Given the description of an element on the screen output the (x, y) to click on. 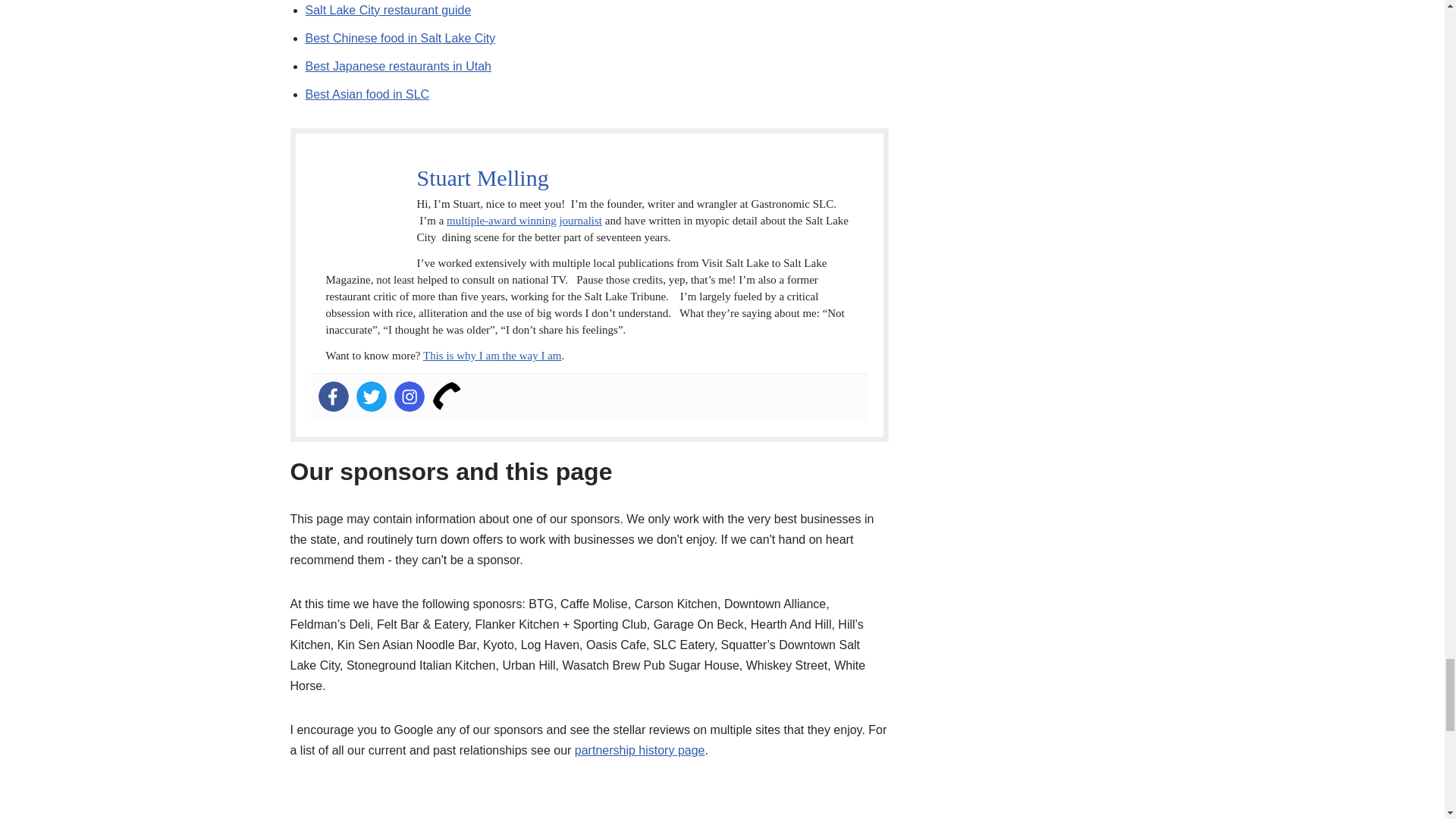
Twitter (371, 396)
Facebook (333, 396)
Phone (447, 396)
Instagram (409, 396)
